Given the description of an element on the screen output the (x, y) to click on. 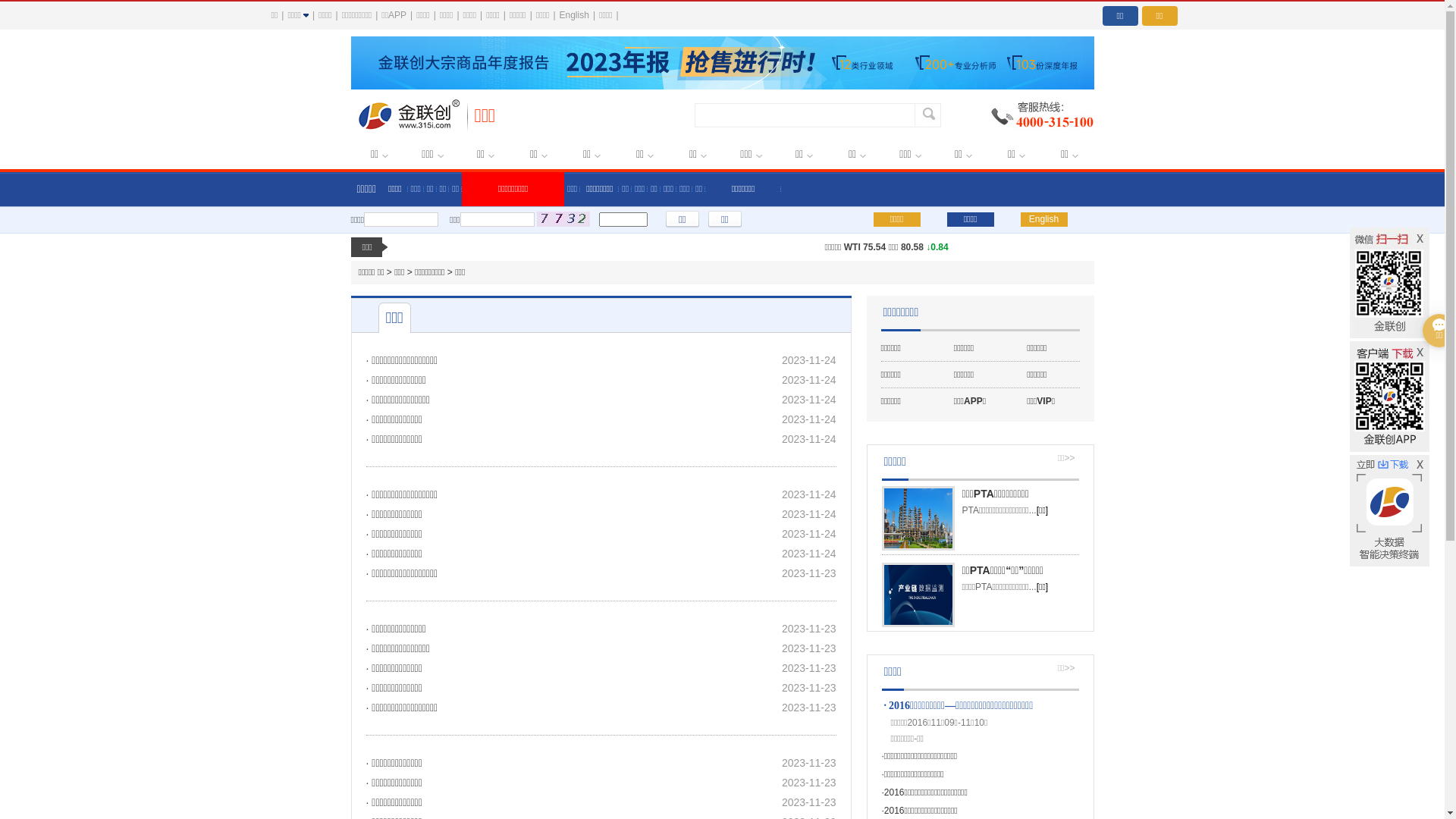
English Element type: text (574, 14)
English Element type: text (1043, 219)
